Given the description of an element on the screen output the (x, y) to click on. 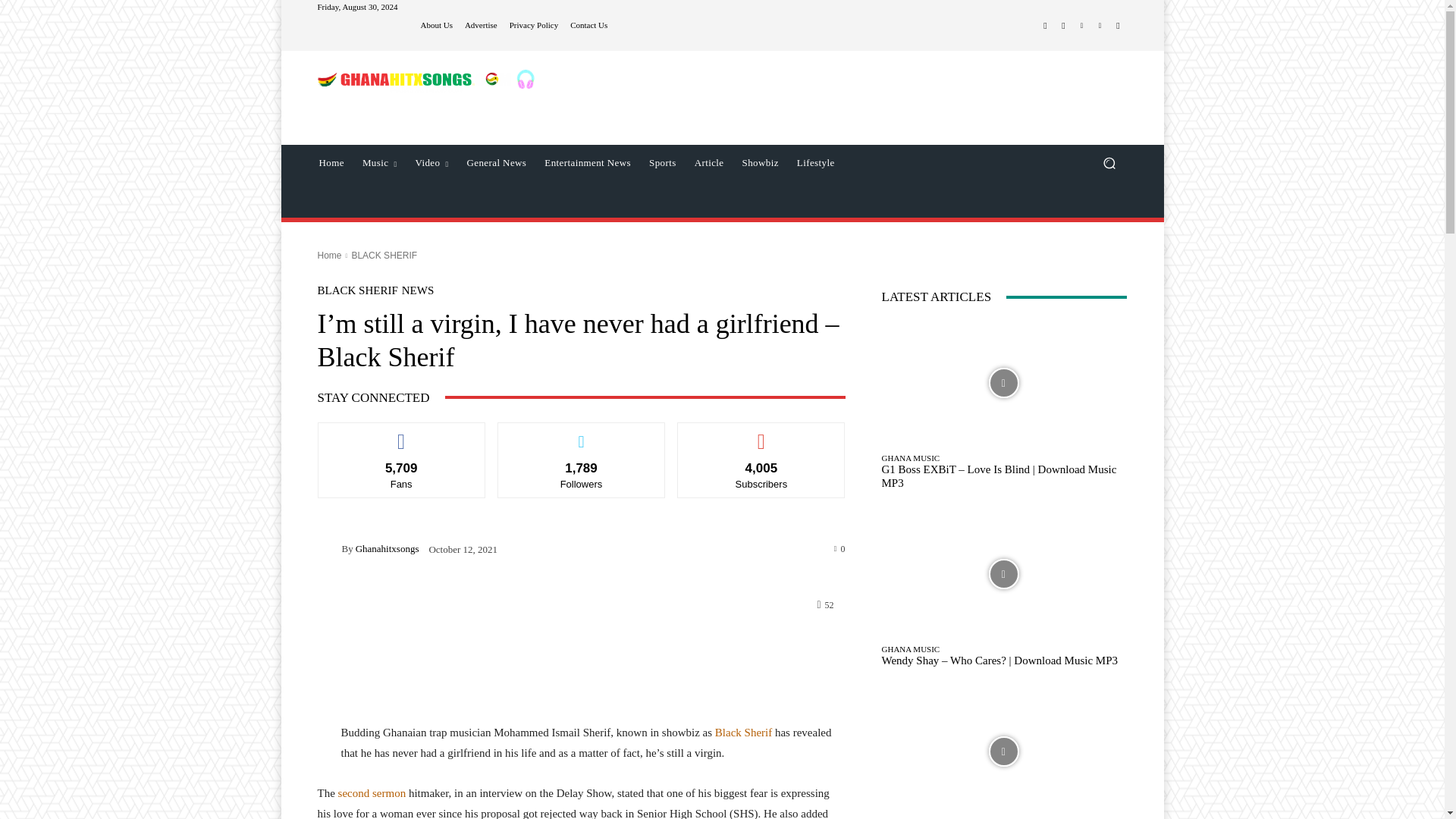
Vimeo (1099, 25)
Privacy Policy (533, 25)
Youtube (1117, 25)
Advertise (480, 25)
Facebook (1044, 25)
Twitter (1080, 25)
Instagram (1062, 25)
View all posts in BLACK SHERIF (383, 255)
Ghanahitxsongs (328, 548)
Contact Us (588, 25)
